Given the description of an element on the screen output the (x, y) to click on. 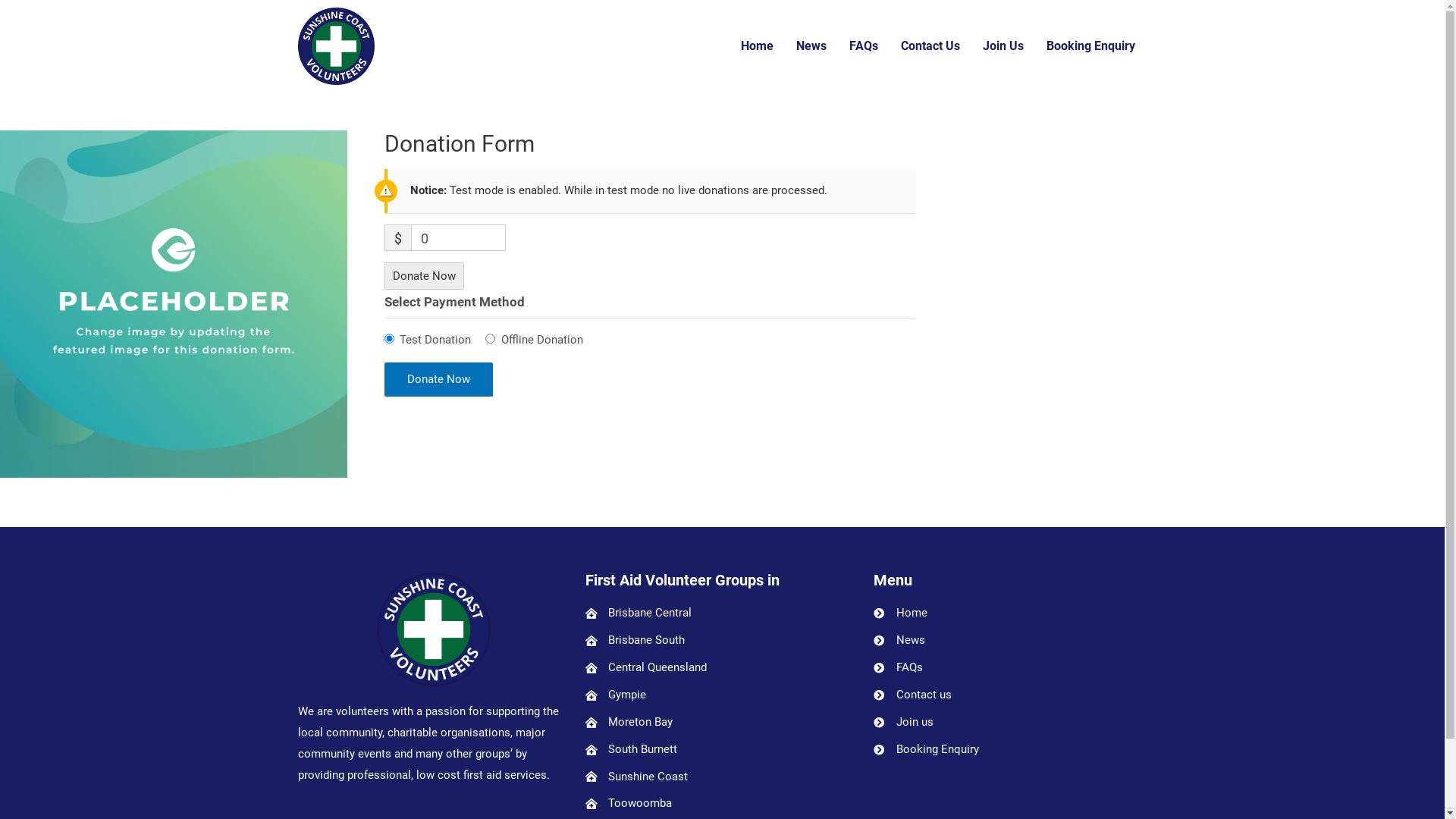
News Element type: text (1009, 640)
News Element type: text (810, 45)
Join us Element type: text (1009, 722)
FAQs Element type: text (863, 45)
Toowoomba Element type: text (721, 803)
Brisbane Central Element type: text (721, 613)
Central Queensland Element type: text (721, 667)
Home Element type: text (756, 45)
Donate Now Element type: text (438, 379)
Home Element type: text (1009, 613)
Gympie Element type: text (721, 695)
Booking Enquiry Element type: text (1009, 749)
Sunshine Coast Element type: text (721, 776)
Donate Now Element type: text (424, 275)
Contact us Element type: text (1009, 695)
Moreton Bay Element type: text (721, 722)
South Burnett Element type: text (721, 749)
Brisbane South Element type: text (721, 640)
Contact Us Element type: text (930, 45)
FAQs Element type: text (1009, 667)
Booking Enquiry Element type: text (1090, 45)
Join Us Element type: text (1003, 45)
